Given the description of an element on the screen output the (x, y) to click on. 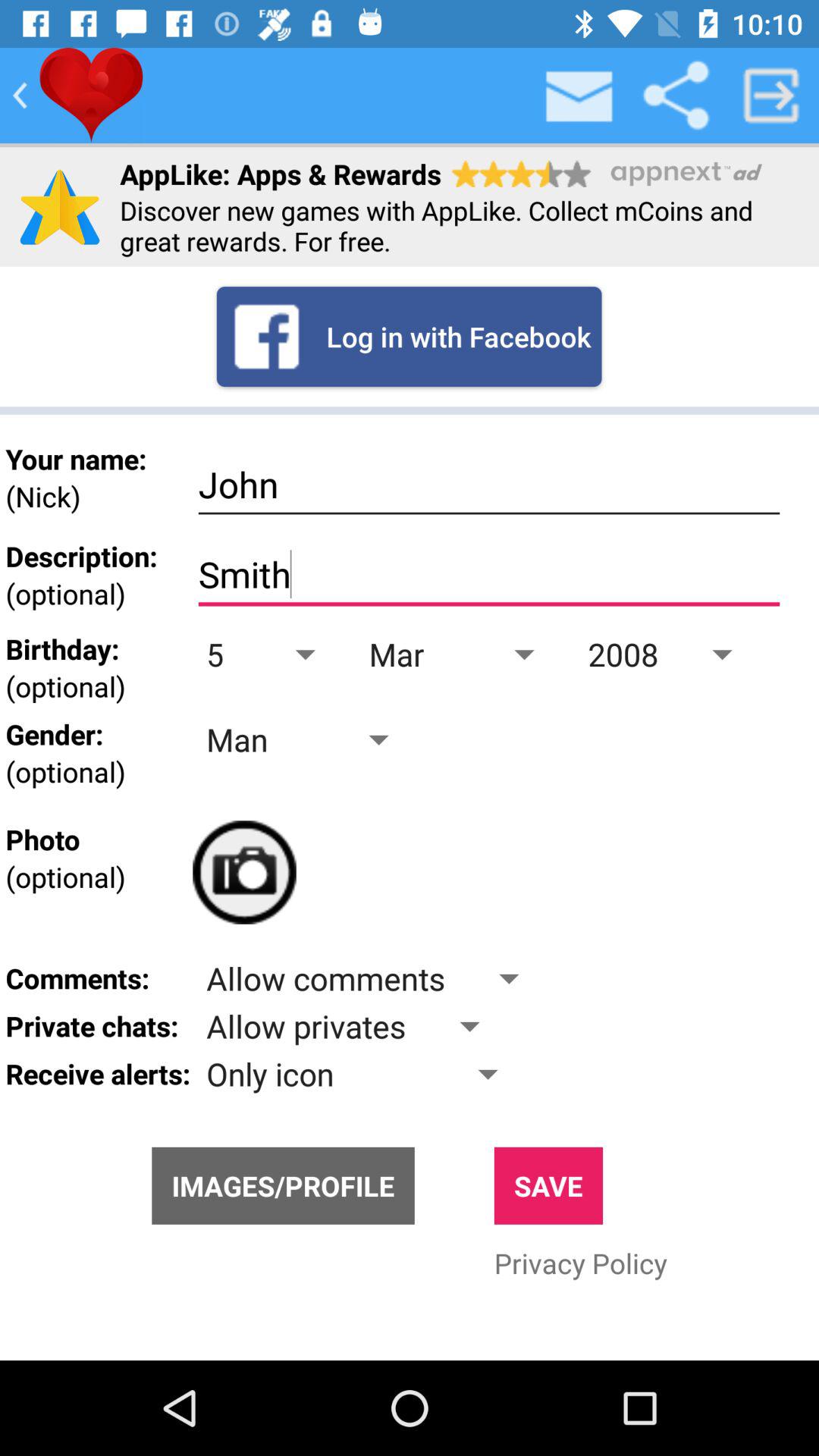
share profile (675, 95)
